Given the description of an element on the screen output the (x, y) to click on. 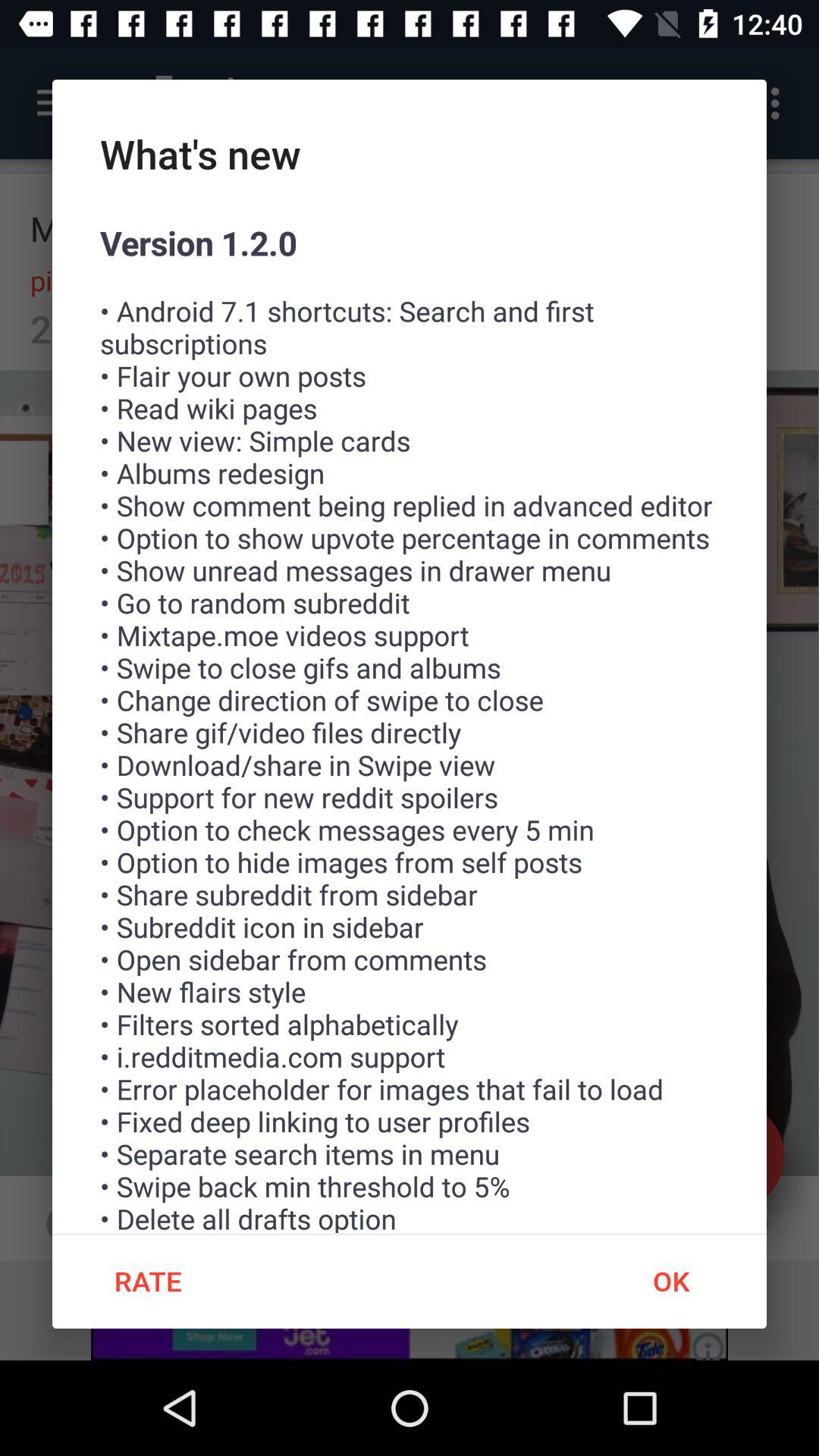
turn on icon below version 1 2 (670, 1280)
